Given the description of an element on the screen output the (x, y) to click on. 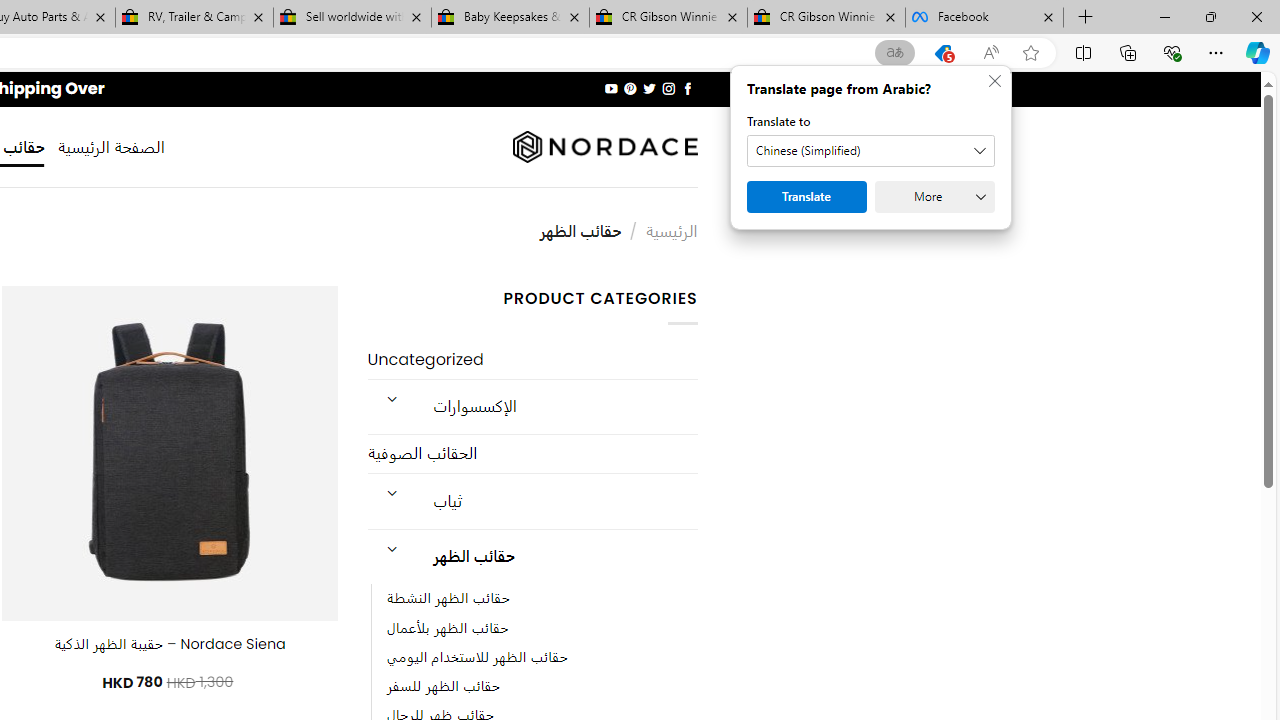
This site has coupons! Shopping in Microsoft Edge, 5 (943, 53)
